Given the description of an element on the screen output the (x, y) to click on. 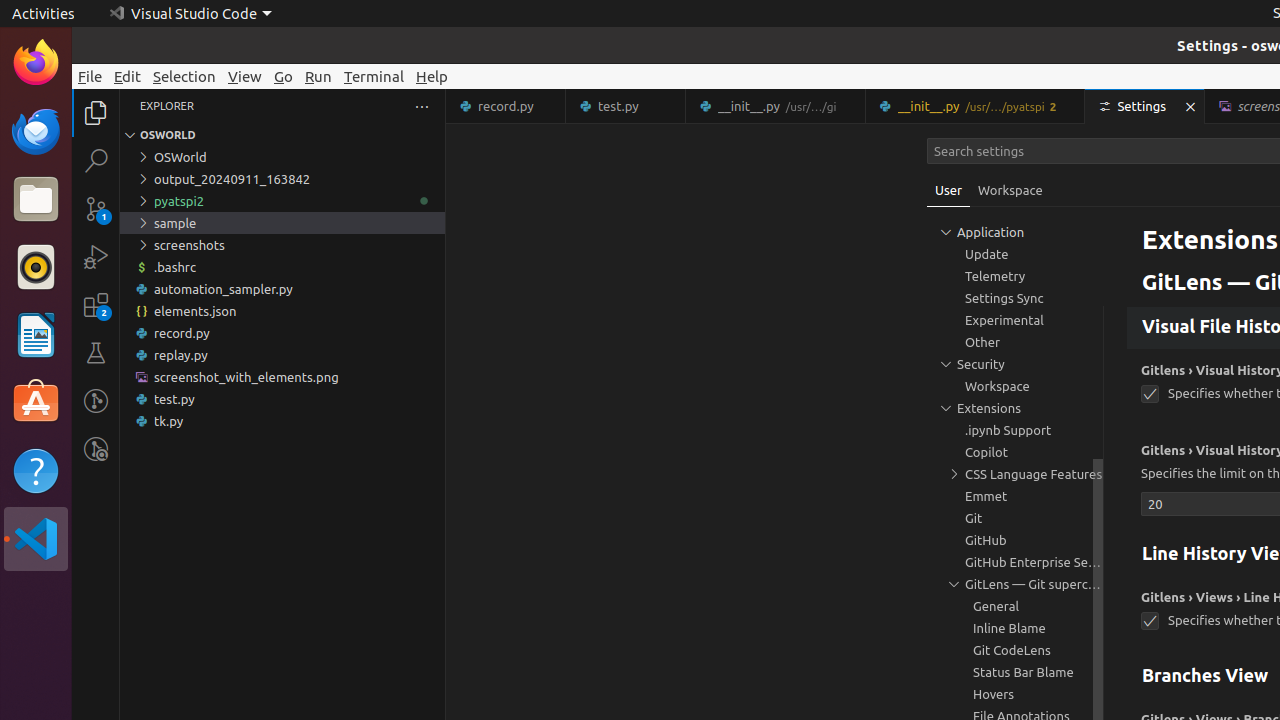
test.py Element type: page-tab (626, 106)
GitLens Inspect Element type: page-tab (96, 449)
Status Bar Blame, group Element type: tree-item (1015, 672)
pyatspi2 Element type: tree-item (282, 201)
.ipynb Support, group Element type: tree-item (1015, 430)
